Given the description of an element on the screen output the (x, y) to click on. 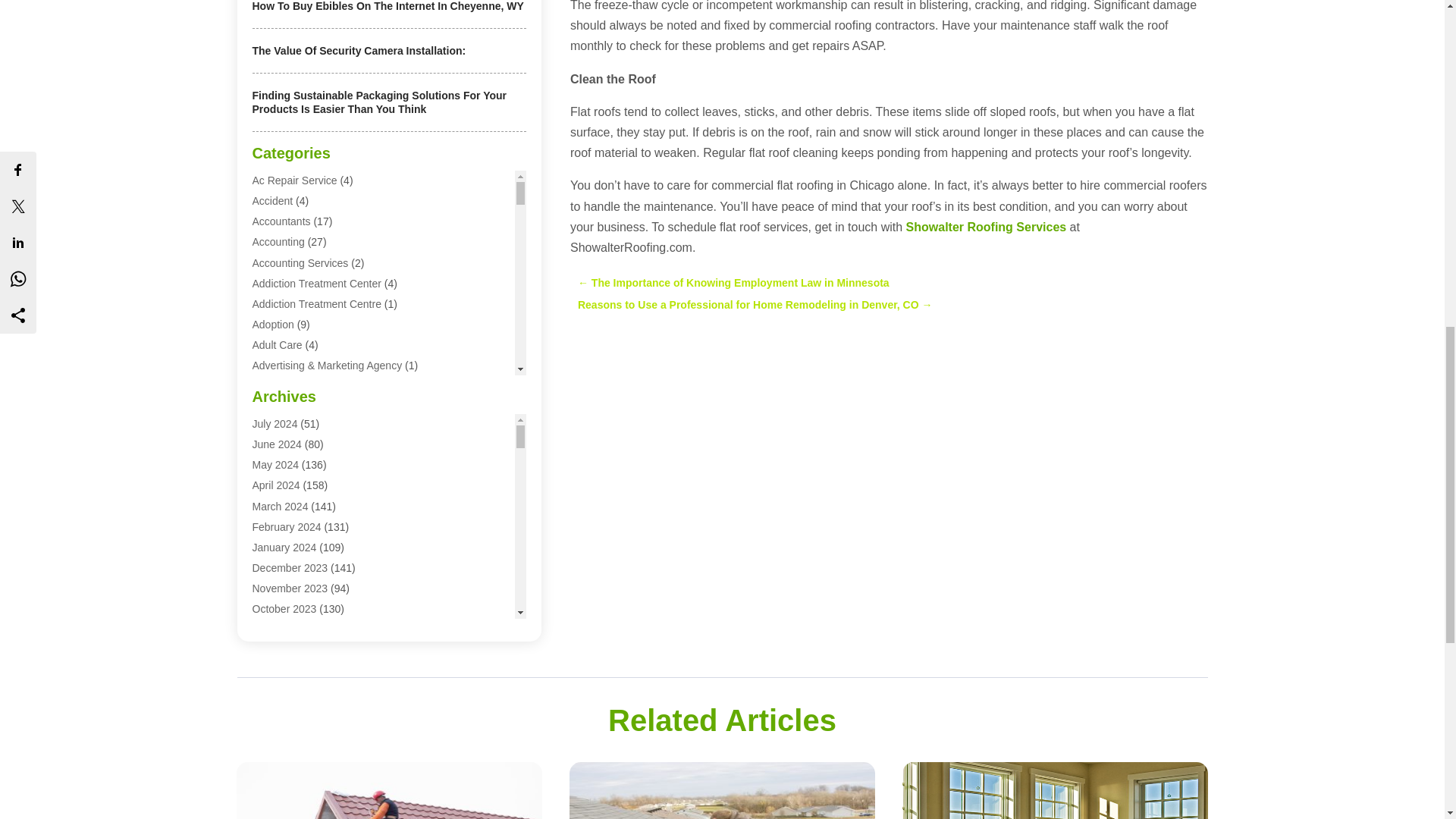
Advertising Agency (296, 386)
Agriculture And Forestry (308, 427)
Accounting (277, 241)
Accountants (280, 221)
Accounting Services (299, 263)
How To Buy Ebibles On The Internet In Cheyenne, WY (386, 6)
The Value Of Security Camera Installation: (358, 50)
Air Conditioning (288, 510)
Agronomy (275, 468)
Addiction Treatment Center (315, 283)
Agriculture Cooperative (306, 448)
Adult Care (276, 345)
Air Compressor Supplier (309, 490)
Adoption (272, 324)
